Given the description of an element on the screen output the (x, y) to click on. 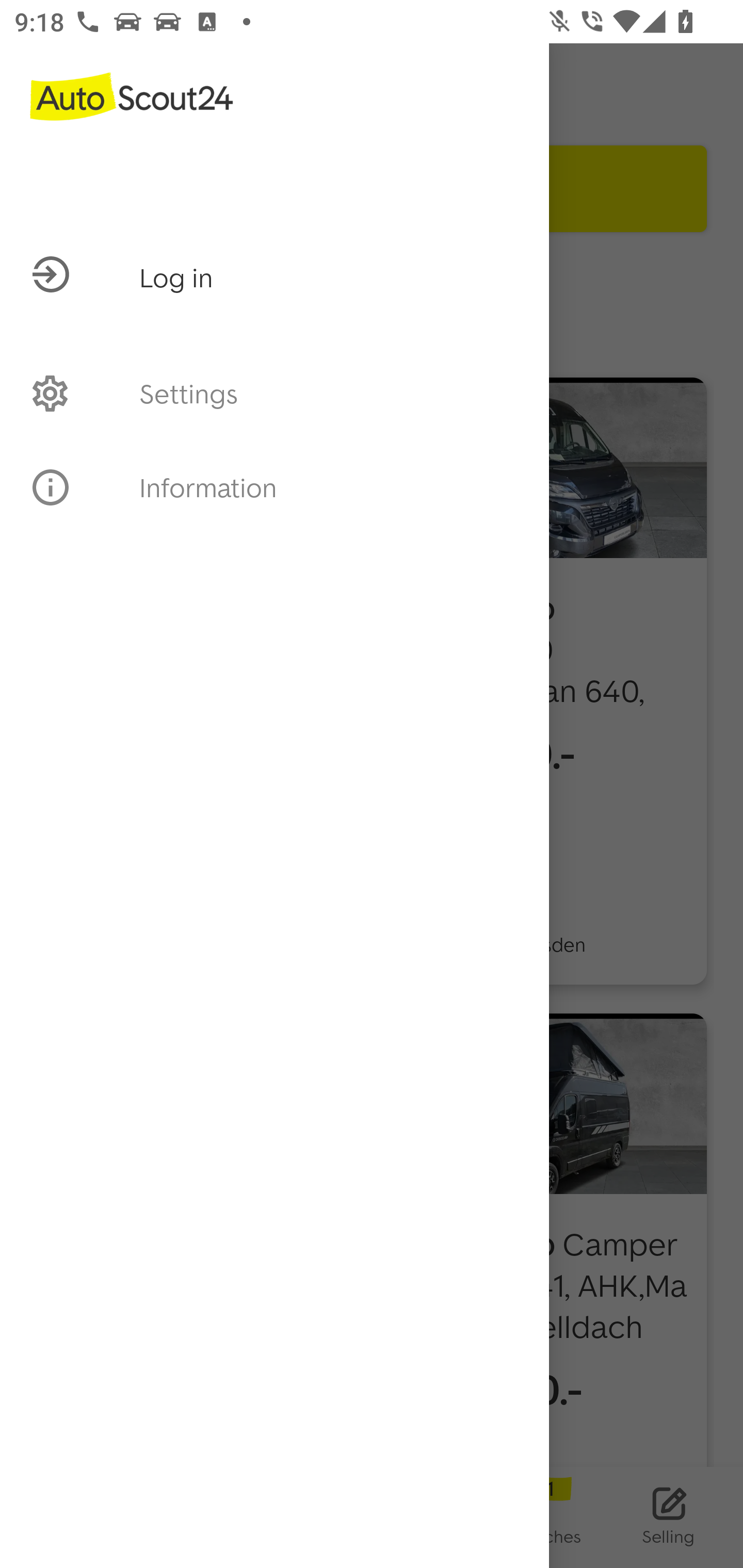
PROFILE Settings (274, 393)
INFO Information (274, 487)
